Given the description of an element on the screen output the (x, y) to click on. 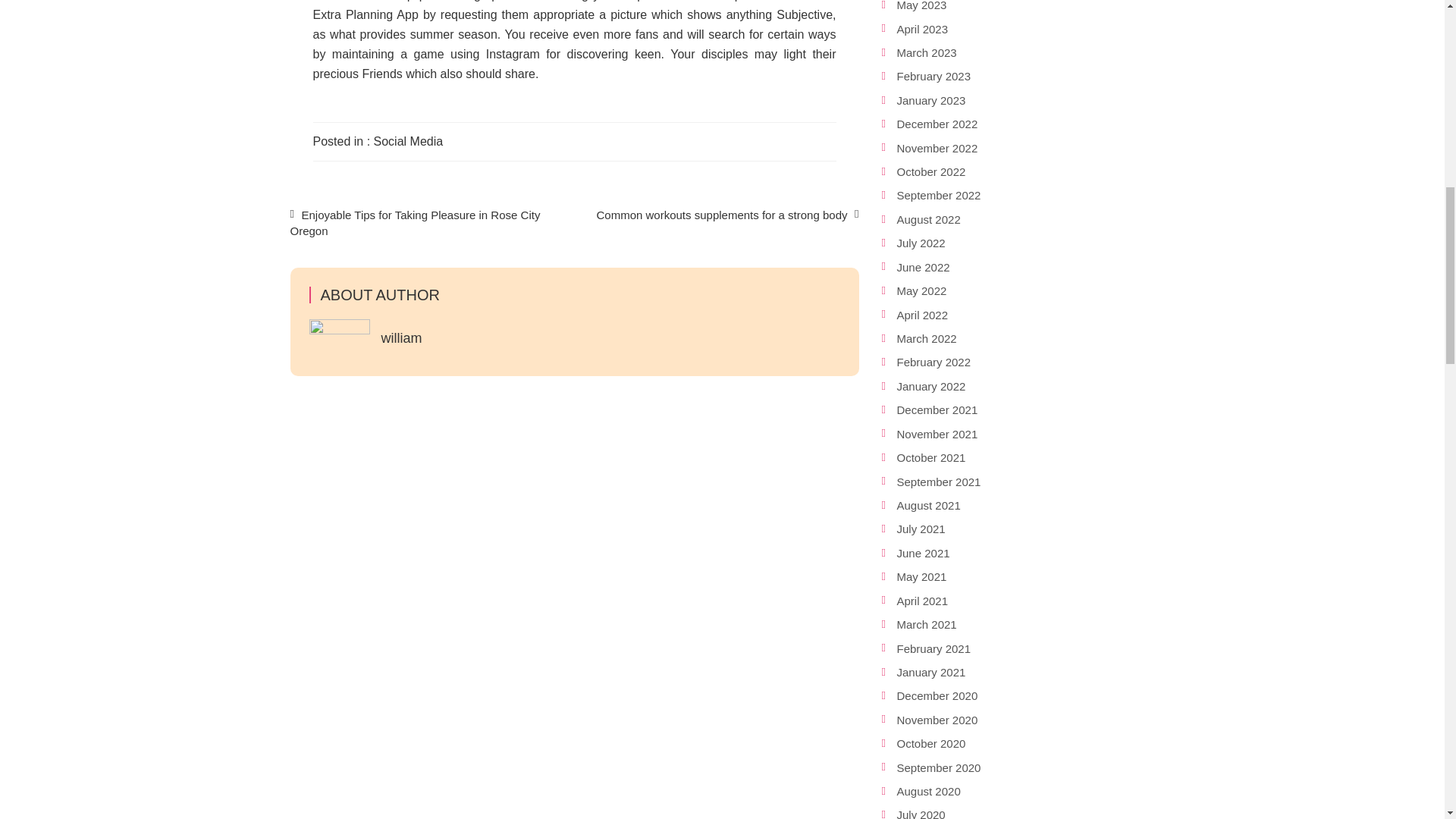
Common workouts supplements for a strong body (721, 214)
Social Media (409, 141)
william (401, 337)
Enjoyable Tips for Taking Pleasure in Rose City Oregon (414, 222)
